Given the description of an element on the screen output the (x, y) to click on. 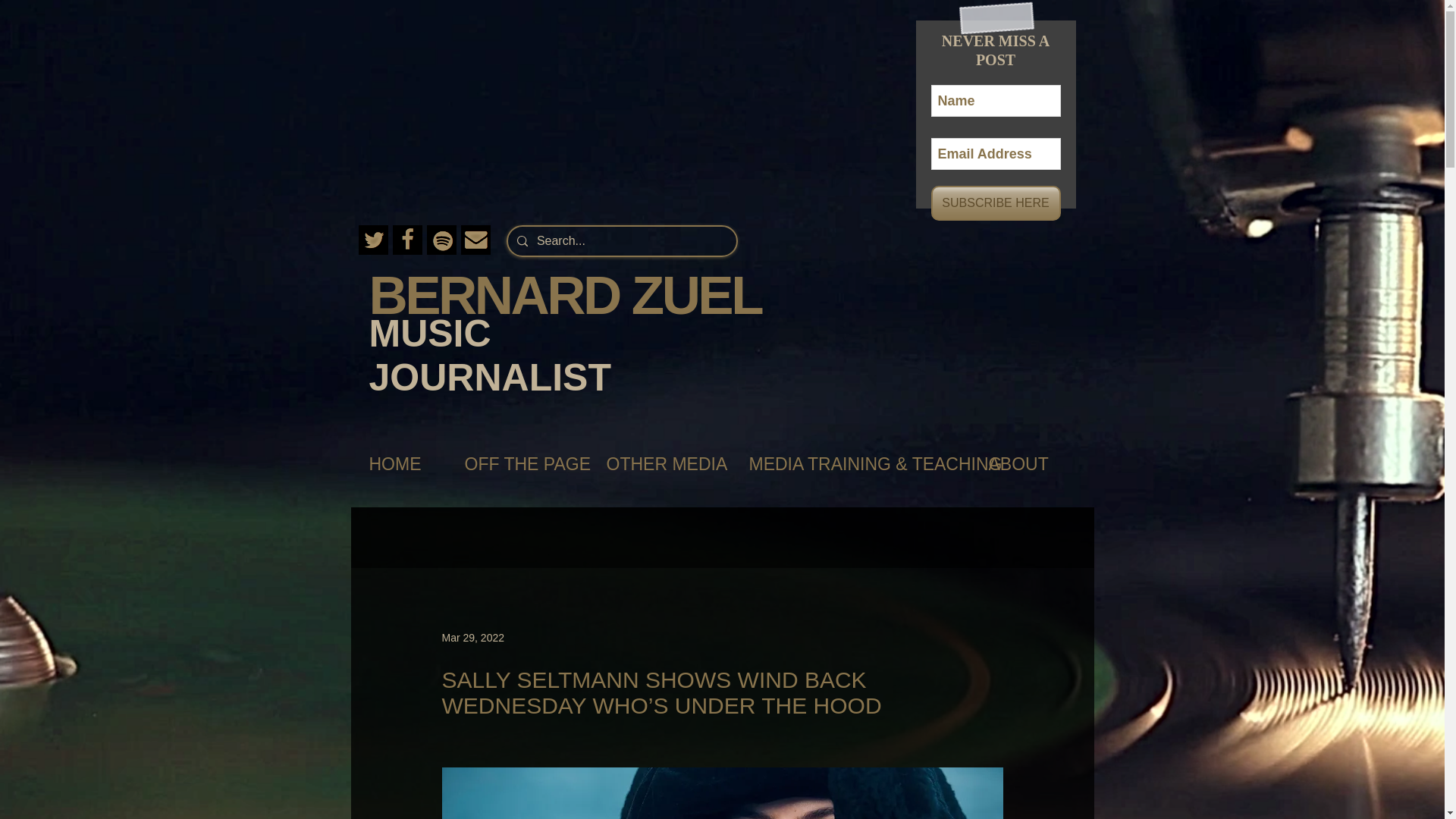
HOME (400, 464)
Mar 29, 2022 (472, 636)
ABOUT (1024, 464)
OTHER MEDIA (662, 464)
SUBSCRIBE HERE (996, 202)
